Given the description of an element on the screen output the (x, y) to click on. 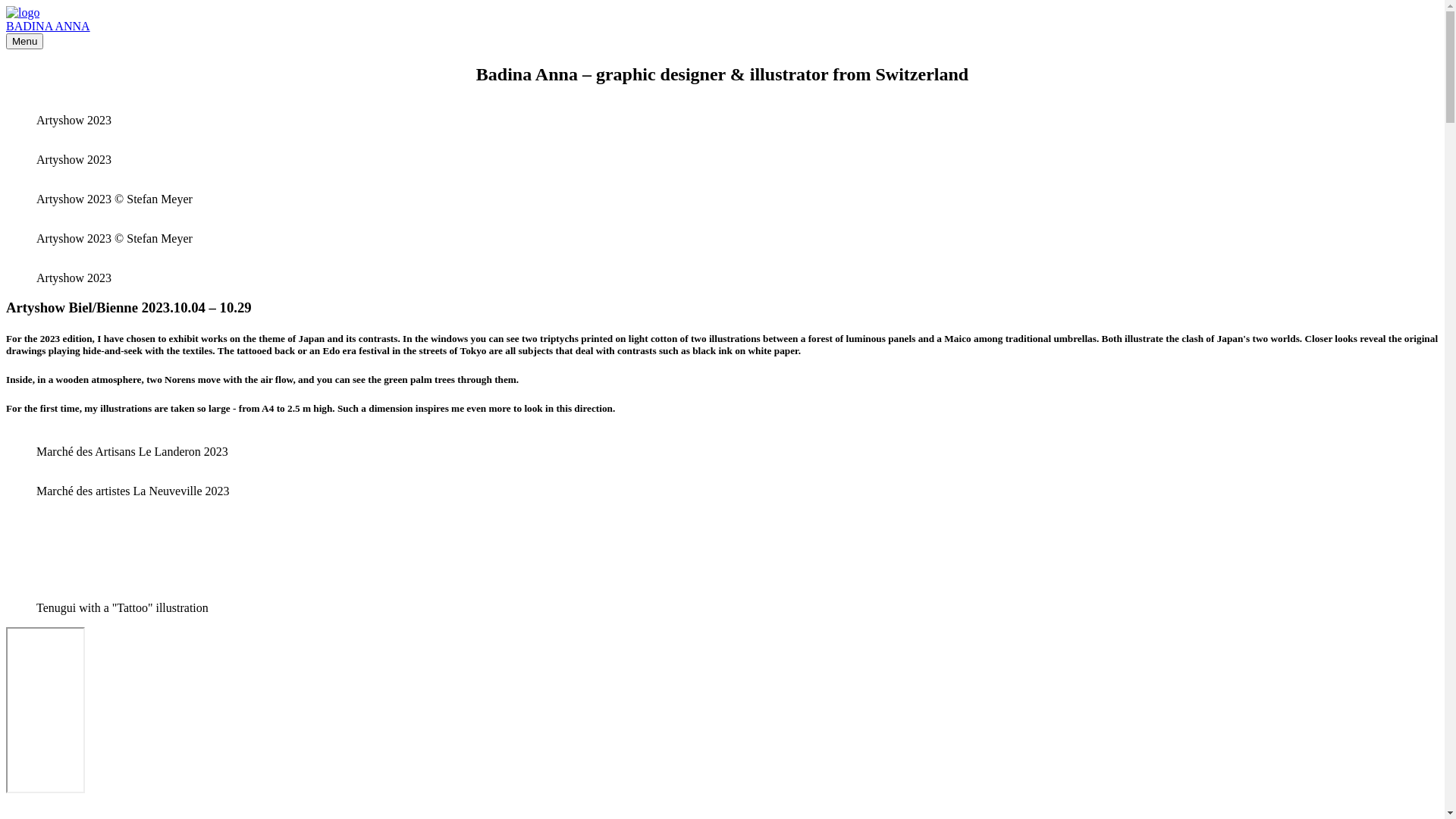
Menu Element type: text (24, 41)
BADINA ANNA Element type: text (48, 25)
logo Element type: hover (22, 12)
